Given the description of an element on the screen output the (x, y) to click on. 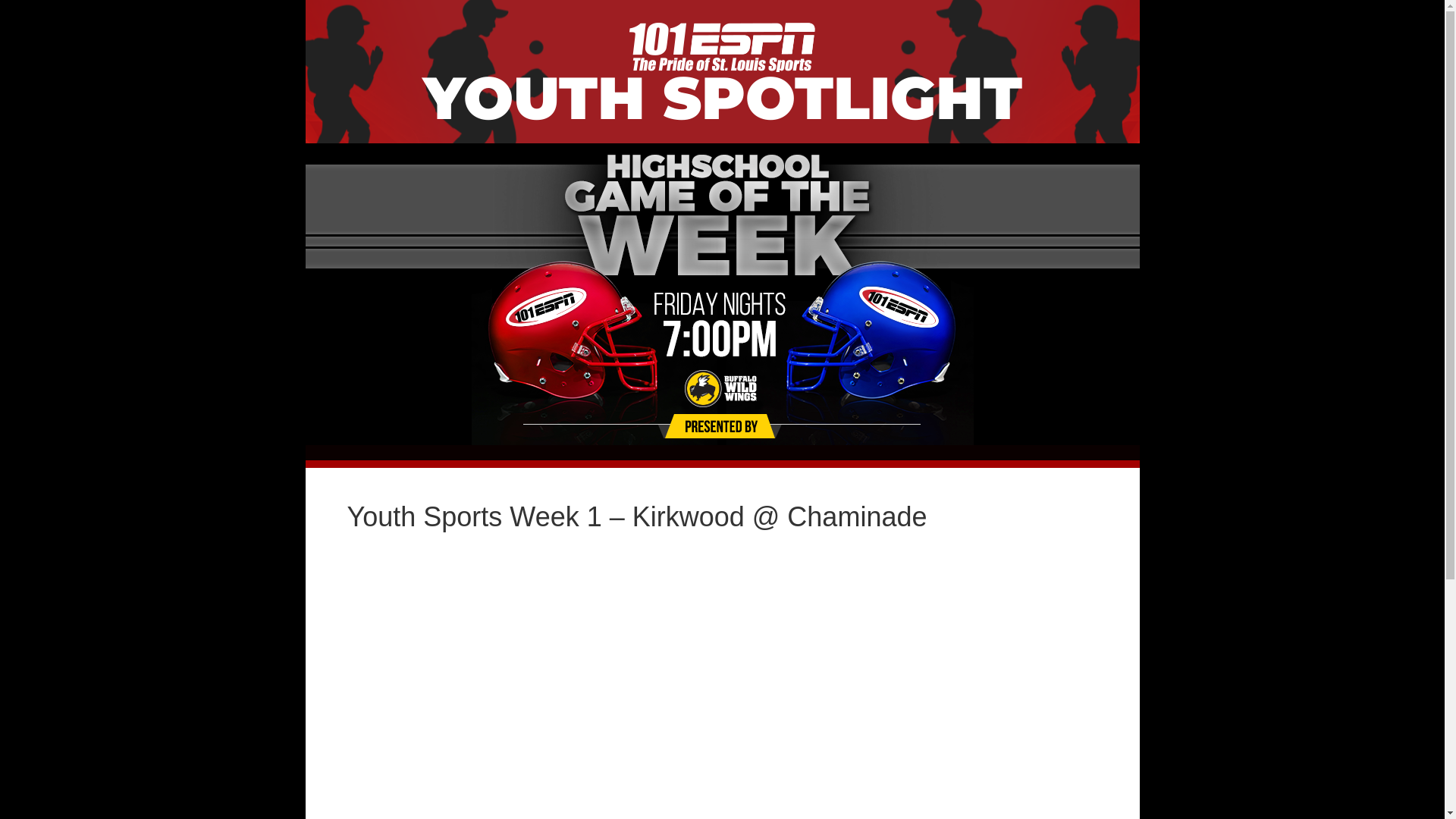
ESPN Element type: hover (722, 47)
Page-Header Element type: hover (722, 294)
